Given the description of an element on the screen output the (x, y) to click on. 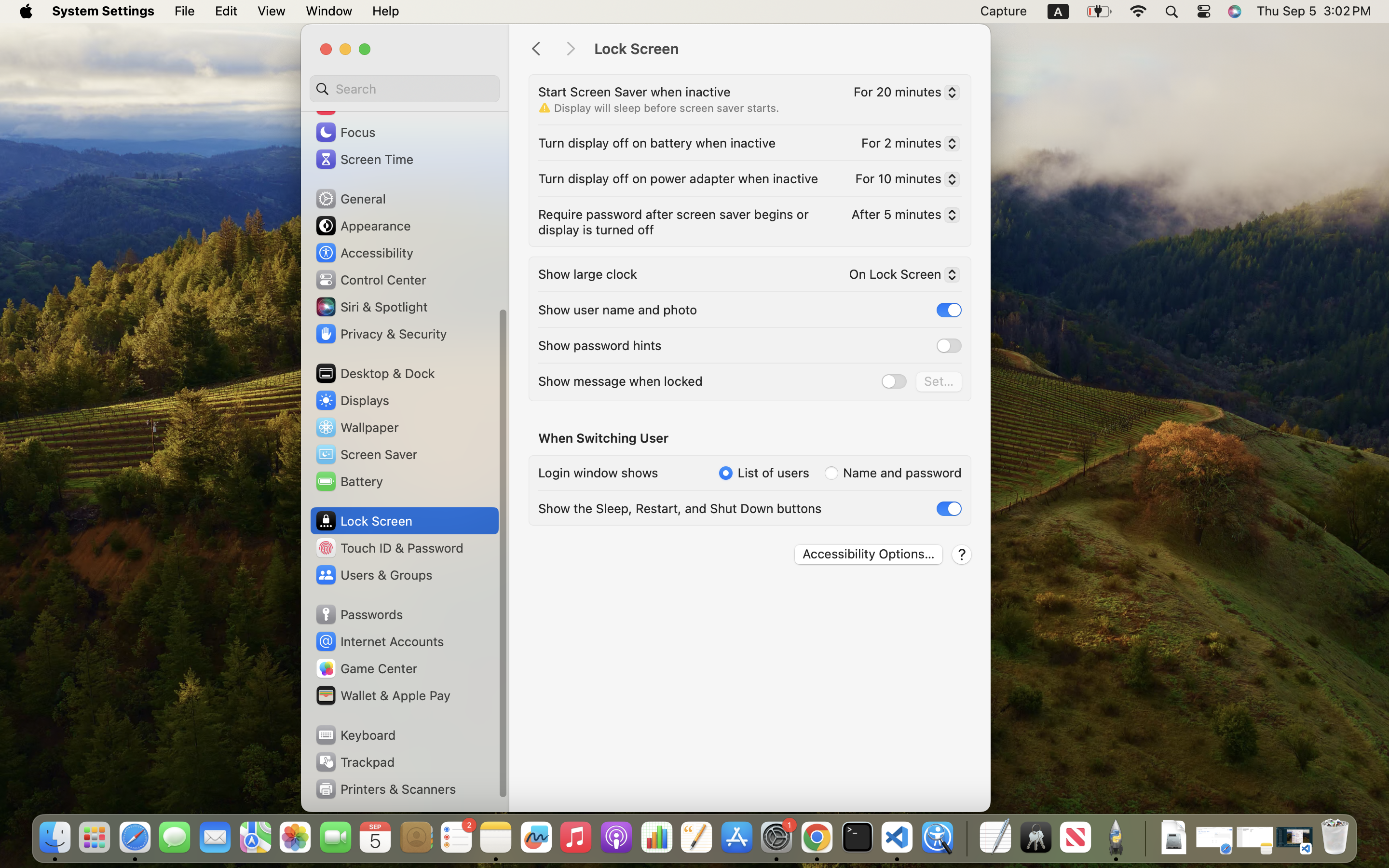
Trackpad Element type: AXStaticText (354, 761)
For 10 minutes Element type: AXPopUpButton (903, 180)
Passwords Element type: AXStaticText (358, 613)
For 20 minutes Element type: AXPopUpButton (902, 93)
